Given the description of an element on the screen output the (x, y) to click on. 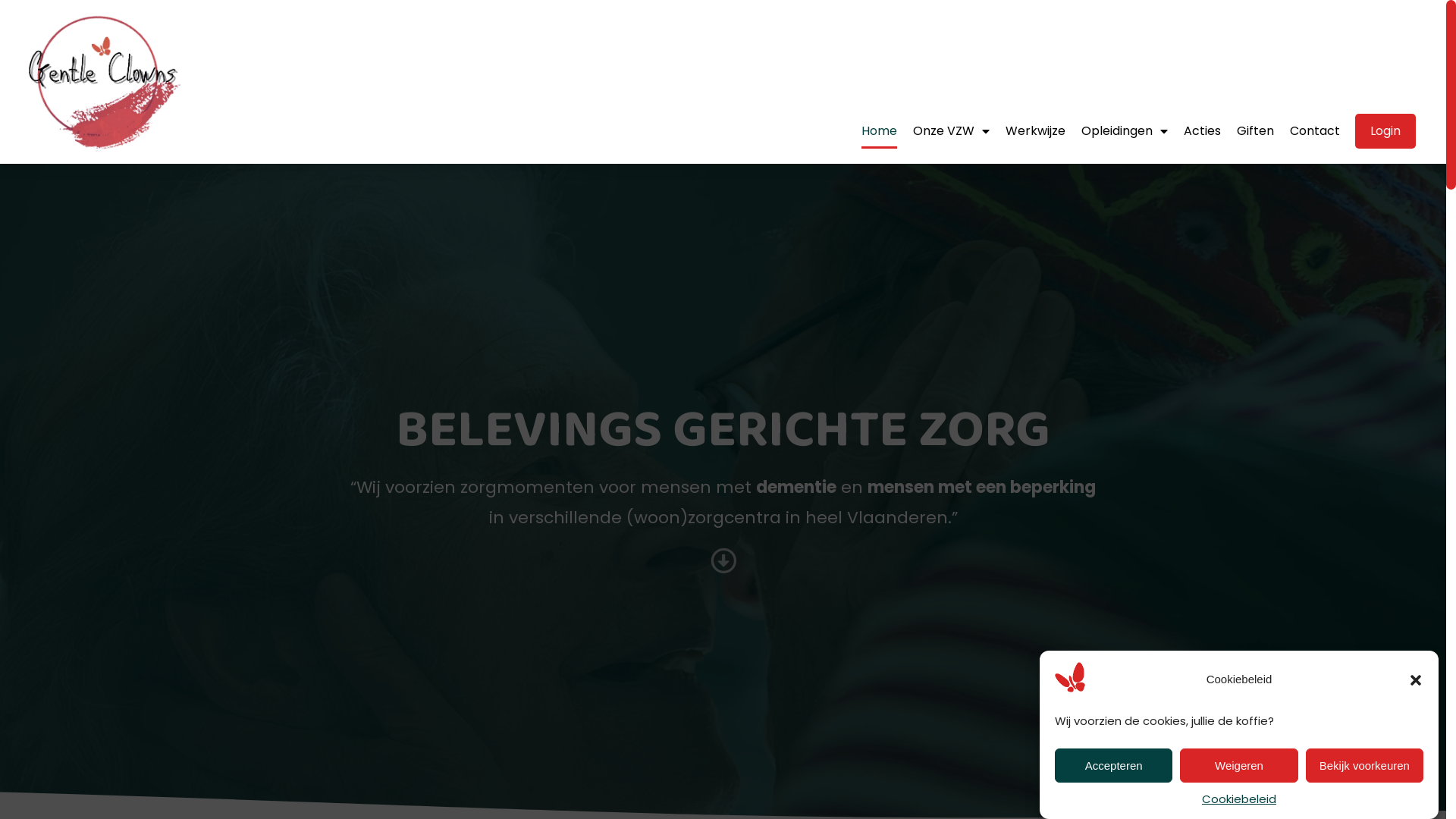
Weigeren Element type: text (1238, 766)
Cookiebeleid Element type: text (1238, 798)
Werkwijze Element type: text (1035, 130)
Home Element type: text (879, 130)
Giften Element type: text (1255, 130)
Opleidingen Element type: text (1124, 130)
Login Element type: text (1385, 130)
Contact Element type: text (1314, 130)
Accepteren Element type: text (1113, 766)
Onze VZW Element type: text (951, 130)
Bekijk voorkeuren Element type: text (1364, 766)
Acties Element type: text (1201, 130)
